Given the description of an element on the screen output the (x, y) to click on. 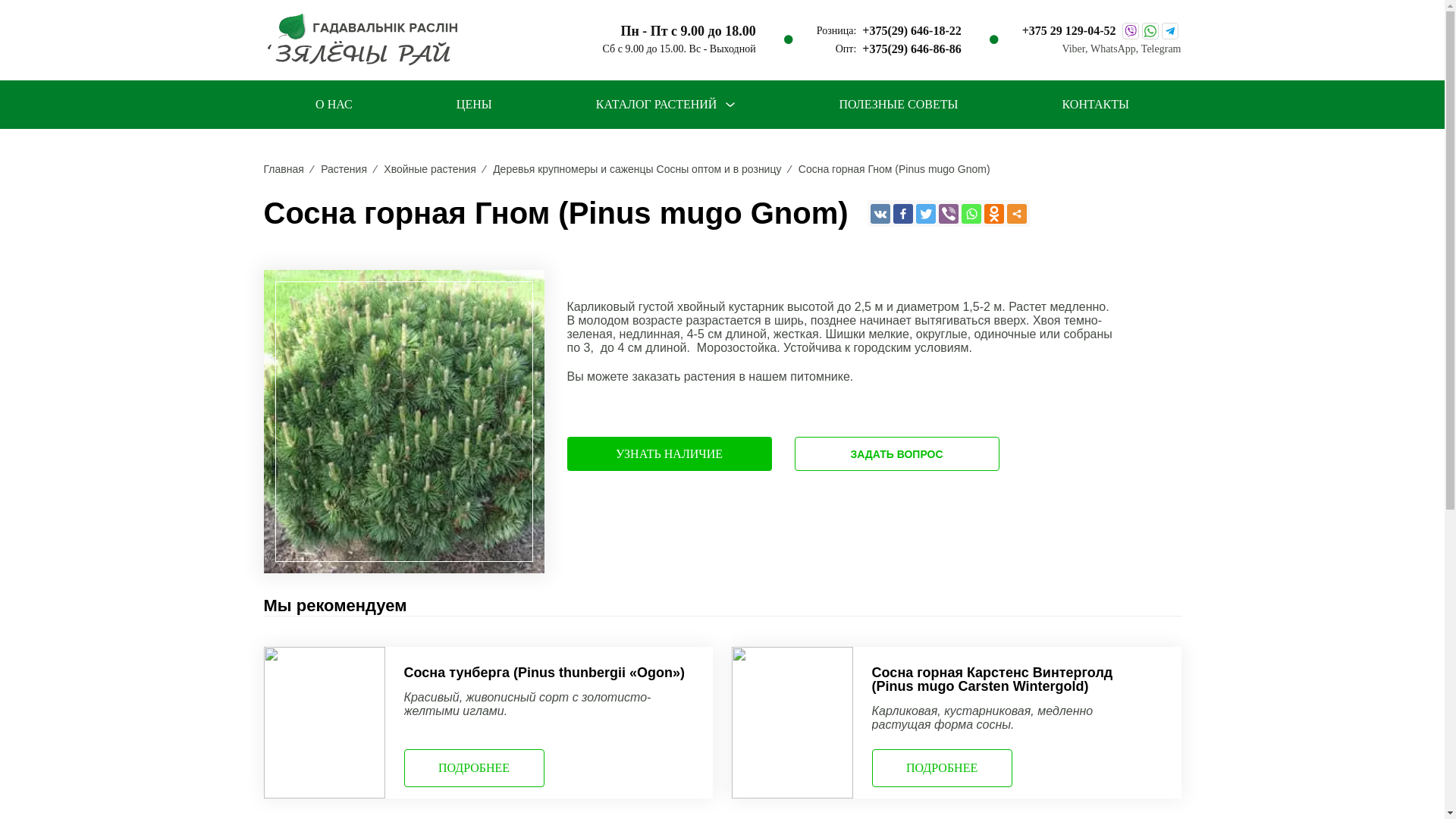
Telegram Element type: text (1161, 49)
Viber,  Element type: text (1075, 49)
WhatsApp,  Element type: text (1115, 49)
More Element type: hover (1016, 212)
+375 29 129-04-52 Element type: text (1069, 30)
Whatsapp Element type: hover (971, 212)
Facebook Element type: hover (903, 212)
+375(29) 646-86-86 Element type: text (911, 49)
+375(29) 646-18-22 Element type: text (911, 30)
Twitter Element type: hover (925, 212)
Odnoklassniki Element type: hover (994, 212)
Vkontakte Element type: hover (880, 212)
Viber Element type: hover (948, 212)
